Given the description of an element on the screen output the (x, y) to click on. 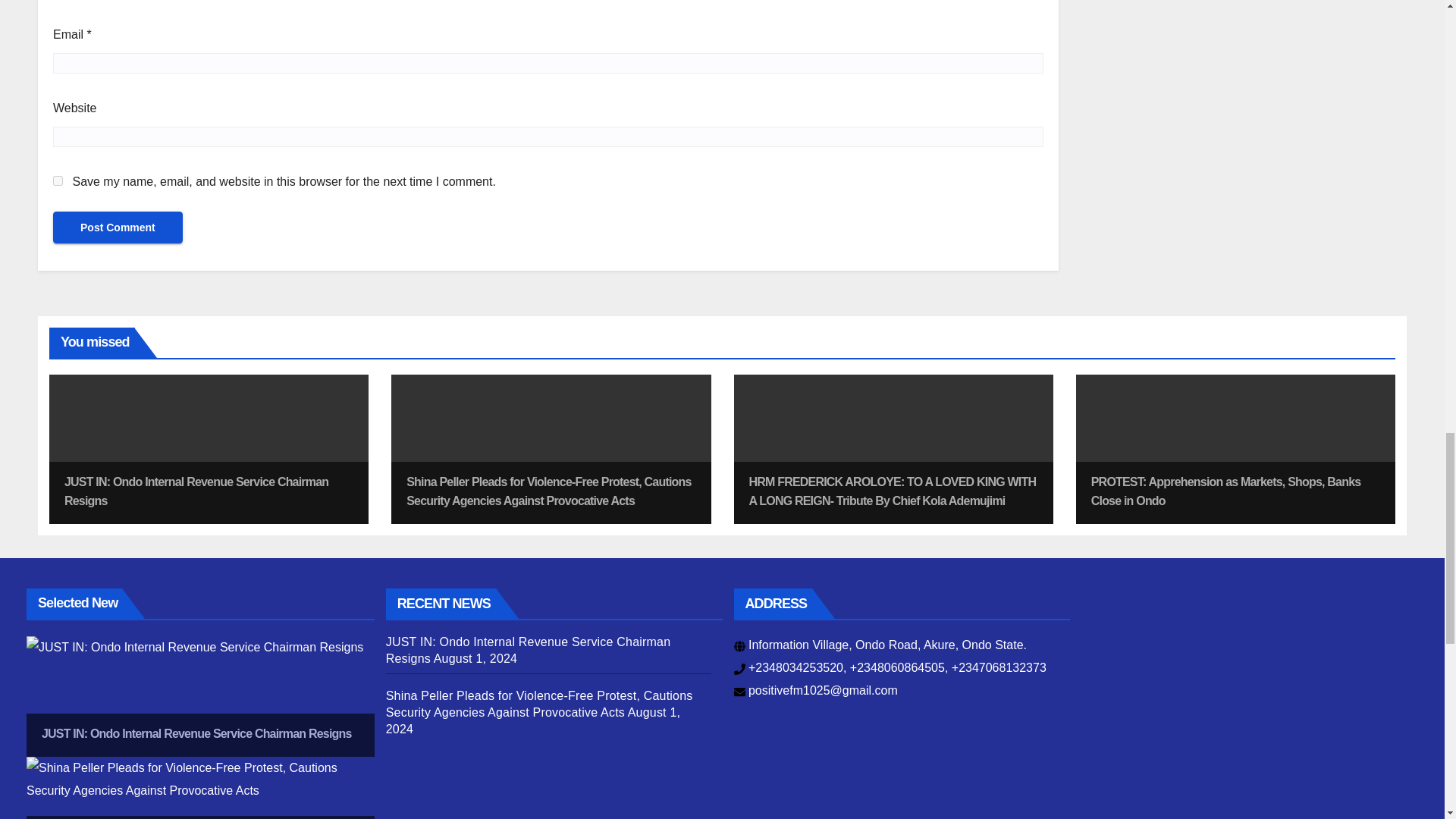
Post Comment (117, 227)
yes (57, 180)
